Given the description of an element on the screen output the (x, y) to click on. 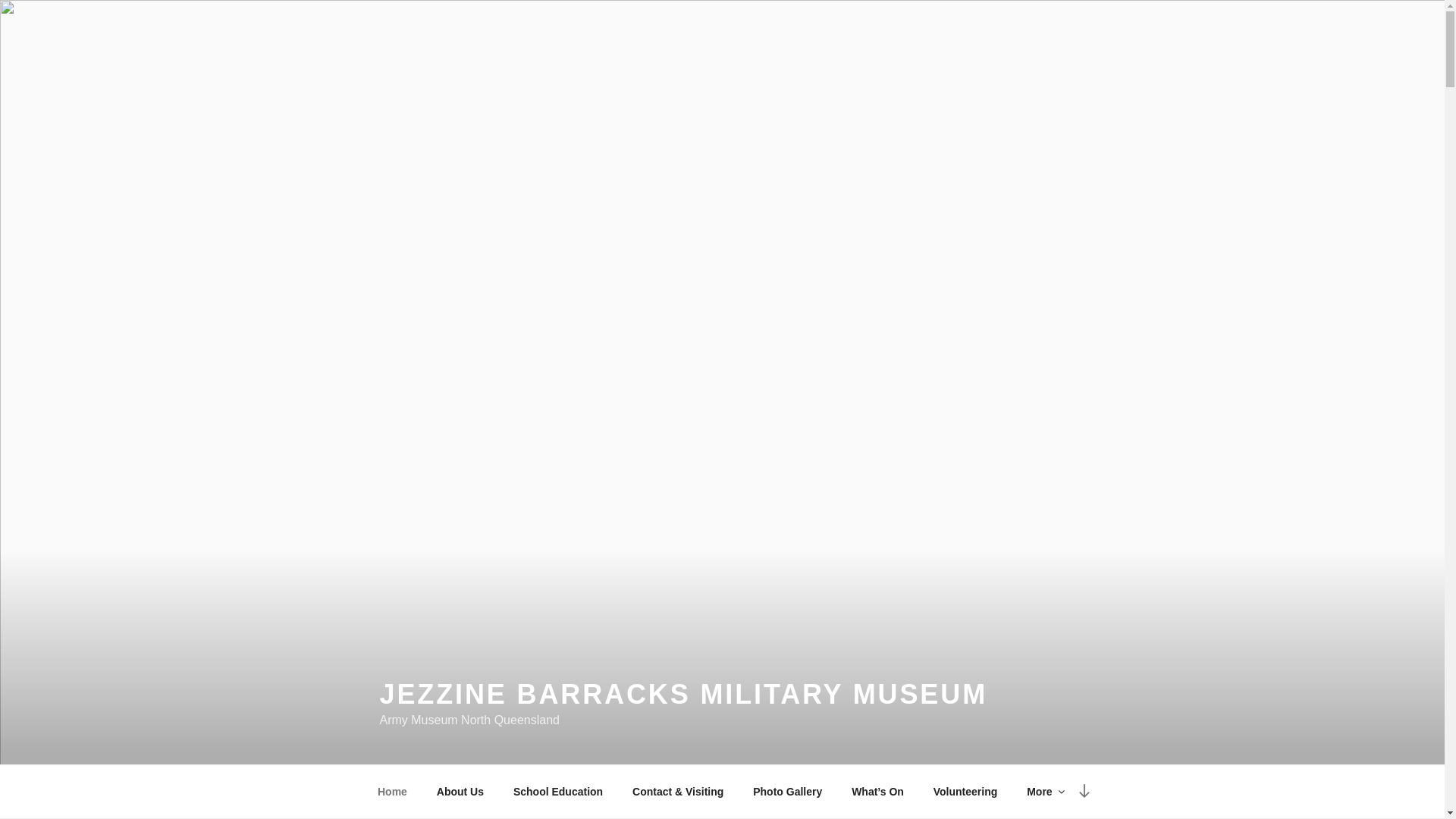
JEZZINE BARRACKS MILITARY MUSEUM Element type: text (683, 693)
Volunteering Element type: text (964, 791)
Scroll down to content Element type: text (1083, 790)
Photo Gallery Element type: text (787, 791)
Contact & Visiting Element type: text (678, 791)
More Element type: text (1044, 791)
School Education Element type: text (557, 791)
Home Element type: text (392, 791)
About Us Element type: text (459, 791)
